Given the description of an element on the screen output the (x, y) to click on. 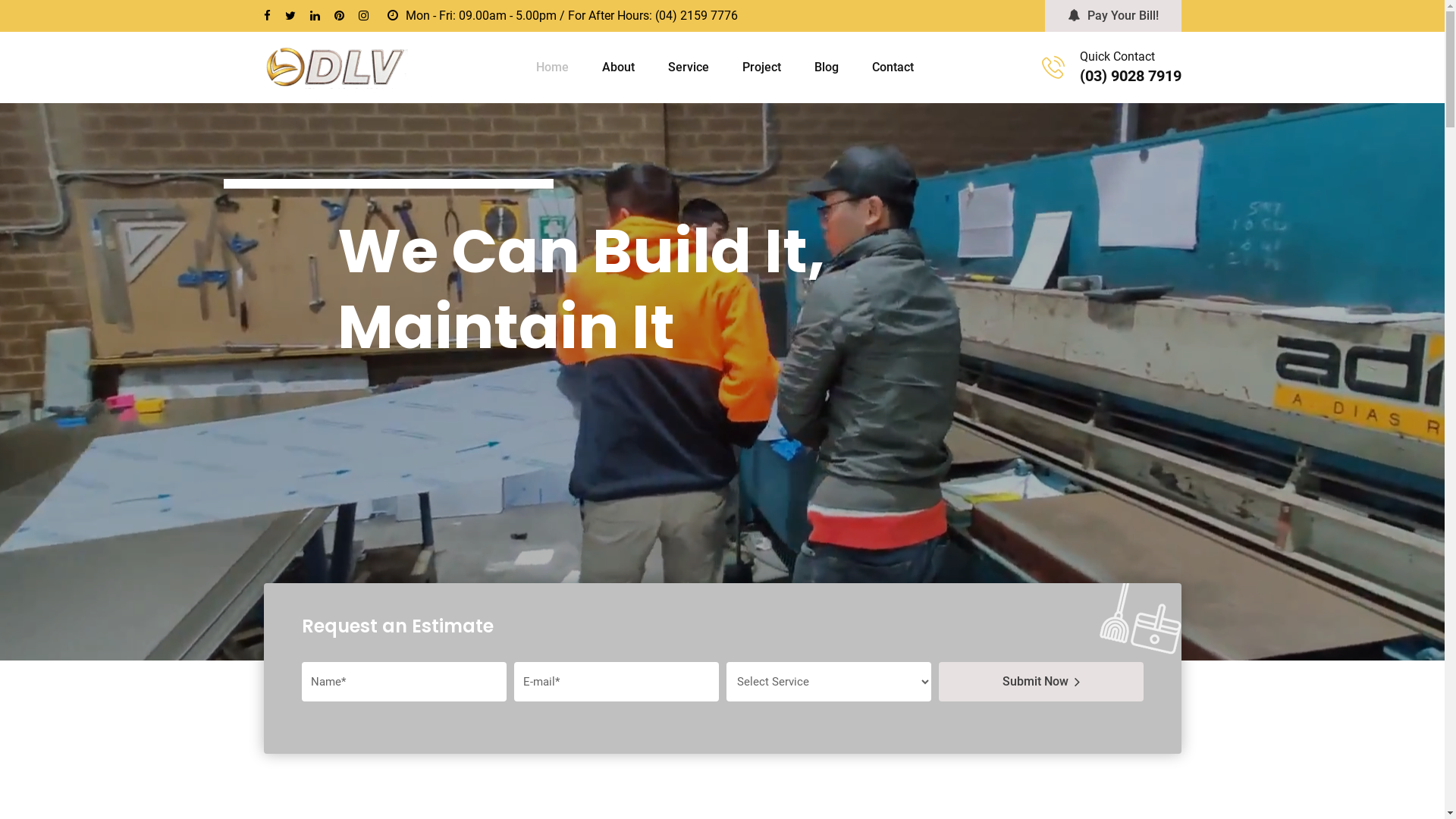
Home Element type: text (551, 67)
Contact Element type: text (892, 67)
Service Element type: text (687, 67)
Pay Your Bill! Element type: text (1112, 15)
Blog Element type: text (826, 67)
About Element type: text (617, 67)
Submit Now Element type: text (1040, 681)
(03) 9028 7919 Element type: text (1130, 75)
Project Element type: text (760, 67)
